Given the description of an element on the screen output the (x, y) to click on. 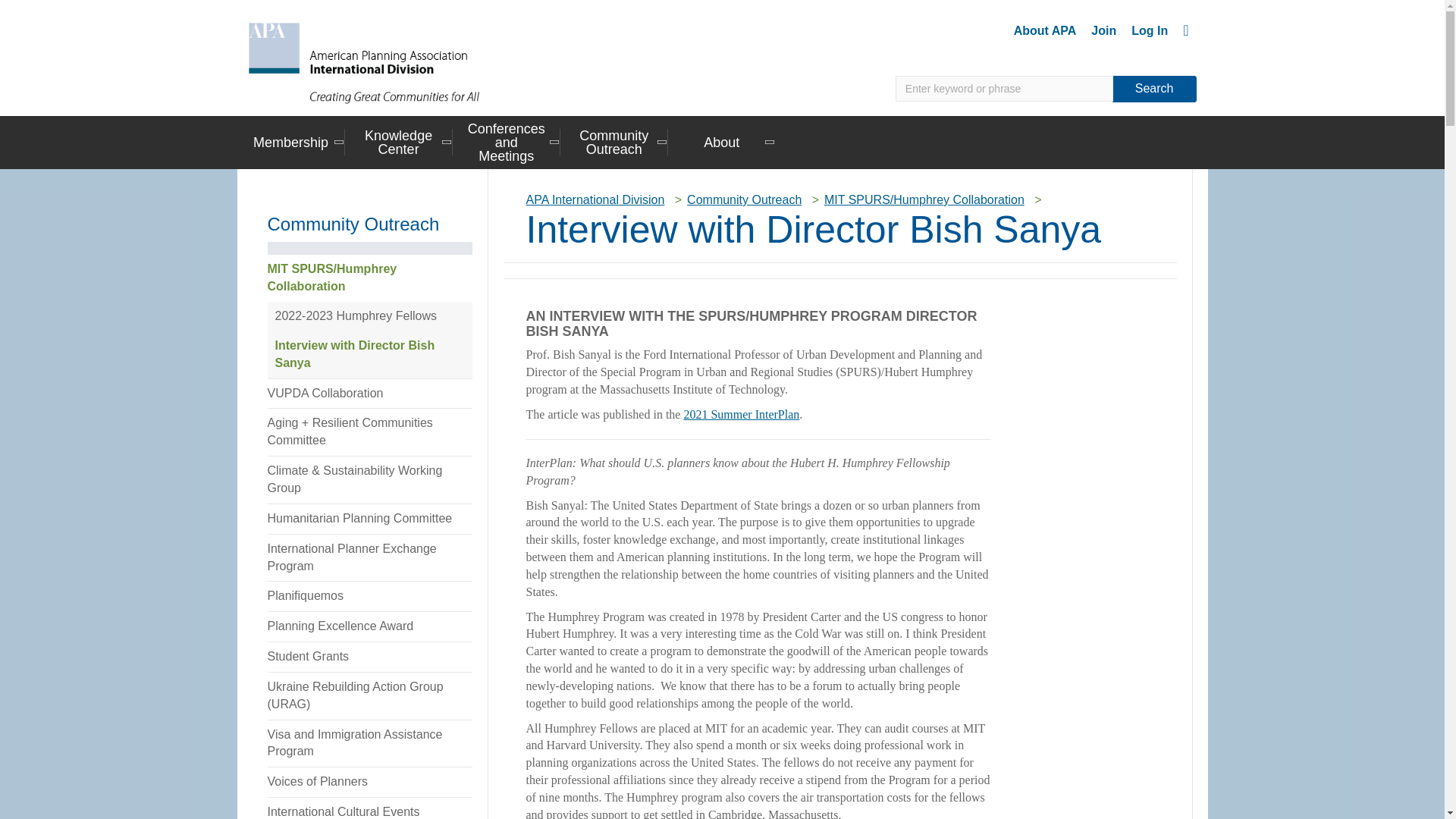
Knowledge Center (398, 141)
Conferences and Meetings (506, 141)
Membership (289, 141)
Community Outreach (614, 141)
About (722, 141)
Log In (1149, 30)
About APA (1045, 30)
Search (1154, 89)
Join (1103, 30)
About APA (1045, 30)
Join (1103, 30)
Log In (1149, 30)
